Given the description of an element on the screen output the (x, y) to click on. 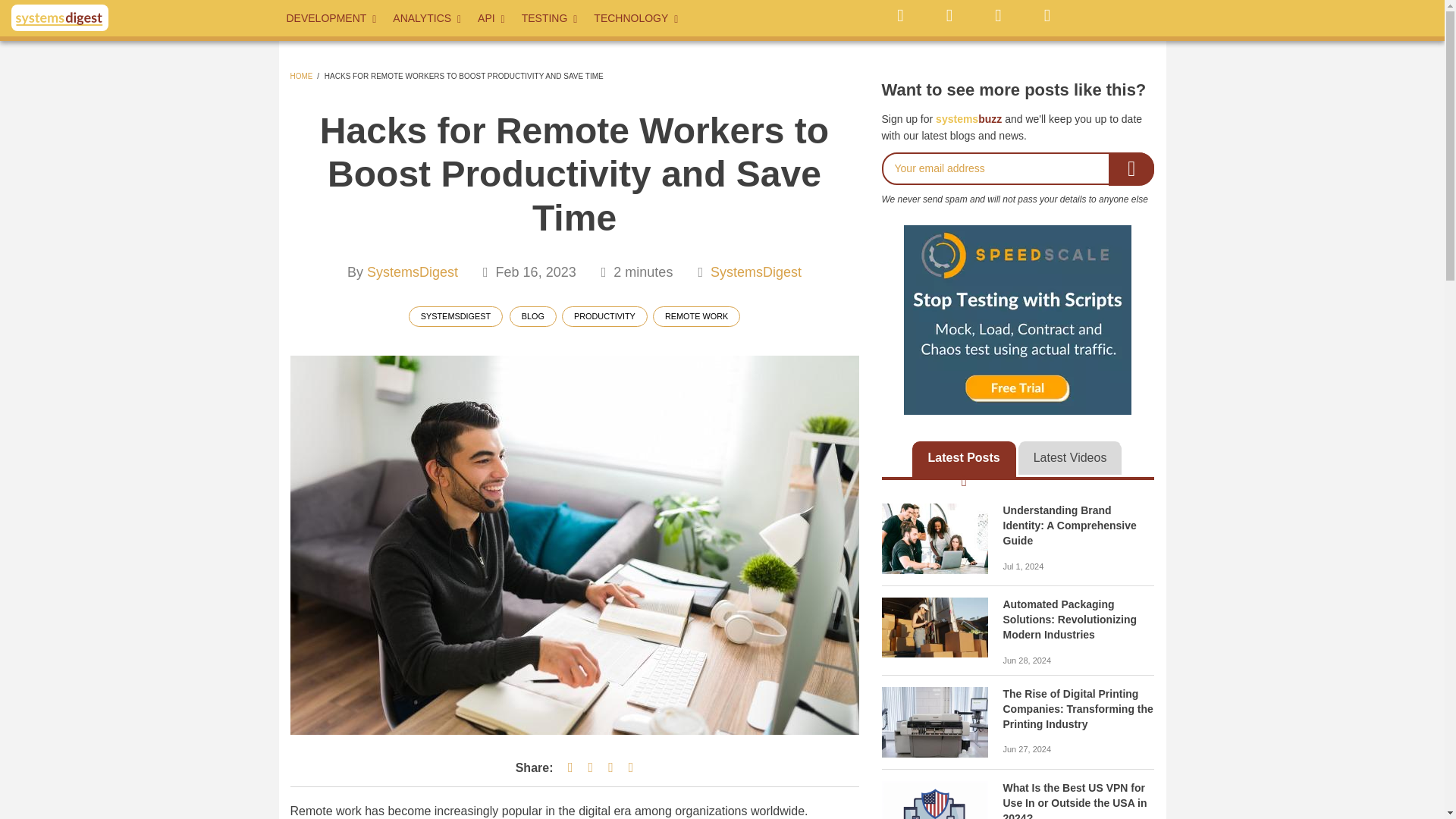
BLOG (532, 316)
systemsdigest (933, 722)
twitter (899, 15)
systemsdigest (933, 538)
REMOTE WORK (695, 316)
linkedin (997, 15)
API (491, 18)
PRODUCTIVITY (604, 316)
SystemsDigest (412, 272)
TESTING (549, 18)
ANALYTICS (427, 18)
DEVELOPMENT (332, 18)
SystemsDigest (756, 272)
